Given the description of an element on the screen output the (x, y) to click on. 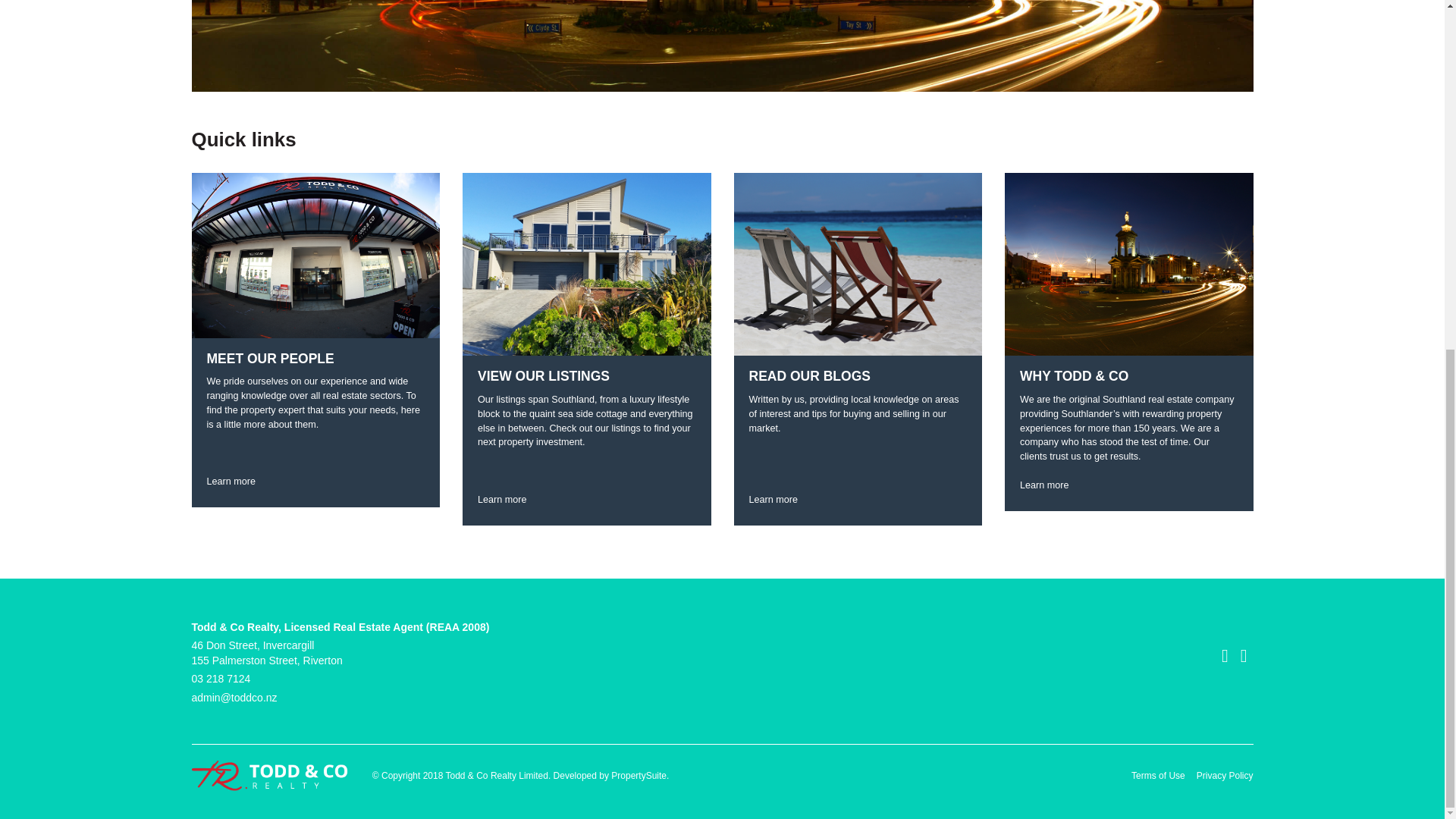
Terms of Use (1158, 775)
Privacy Policy (1224, 775)
PropertySuite (638, 775)
